Given the description of an element on the screen output the (x, y) to click on. 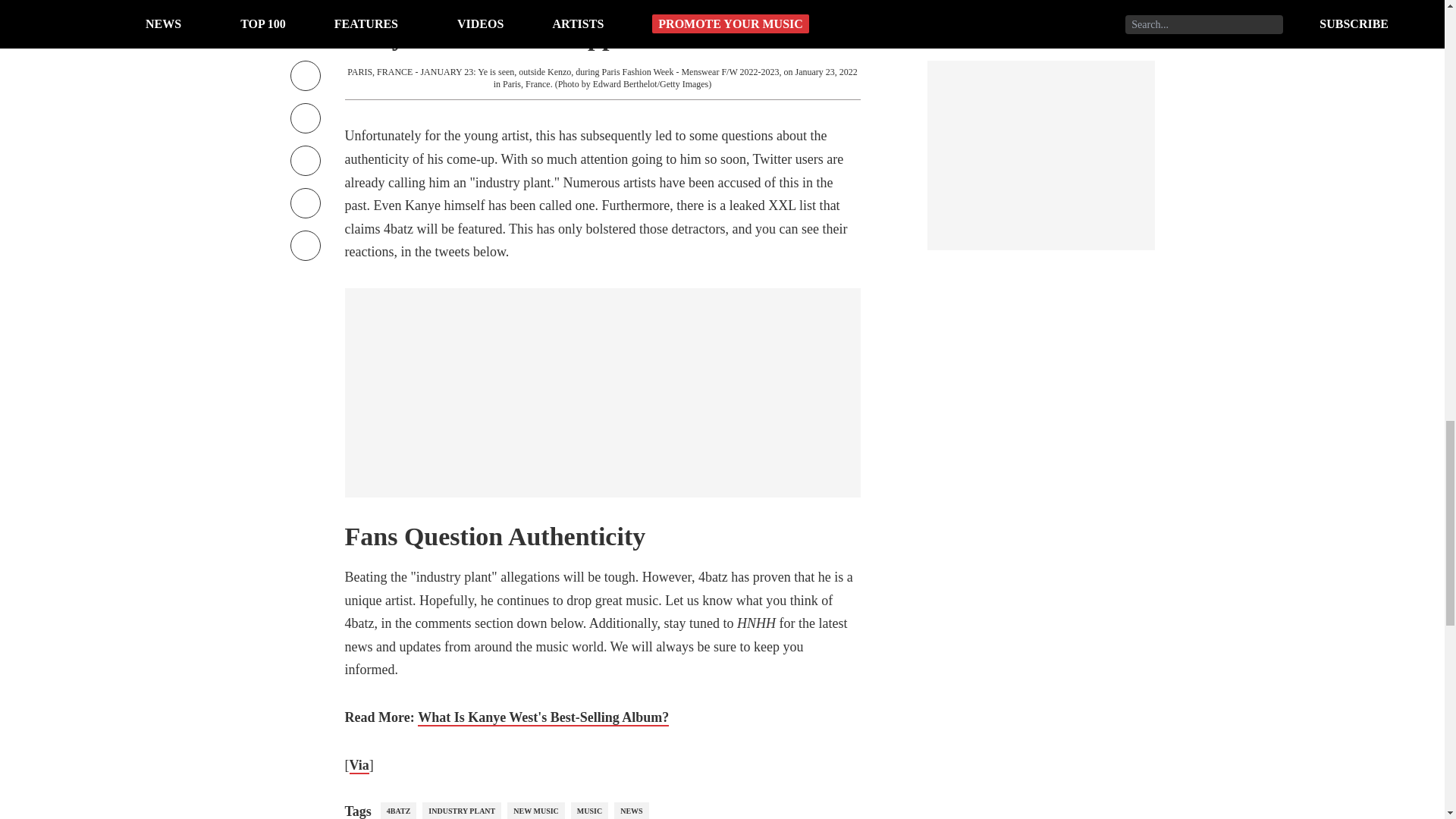
NEWS (630, 810)
4BATZ (398, 810)
INDUSTRY PLANT (461, 810)
What Is Kanye West's Best-Selling Album? (542, 718)
Via (358, 765)
MUSIC (589, 810)
NEW MUSIC (535, 810)
